Given the description of an element on the screen output the (x, y) to click on. 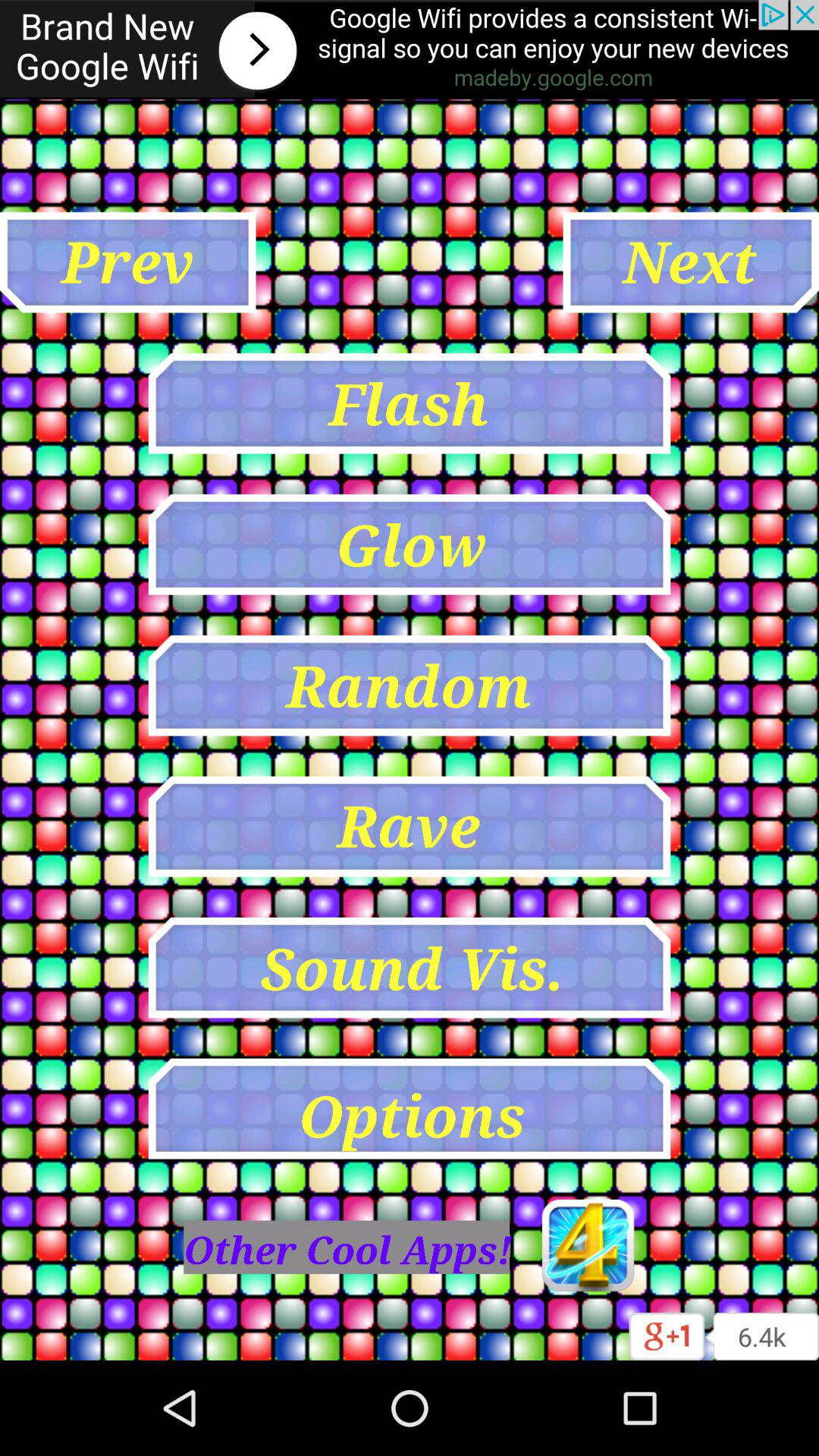
view advertisement (409, 49)
